Given the description of an element on the screen output the (x, y) to click on. 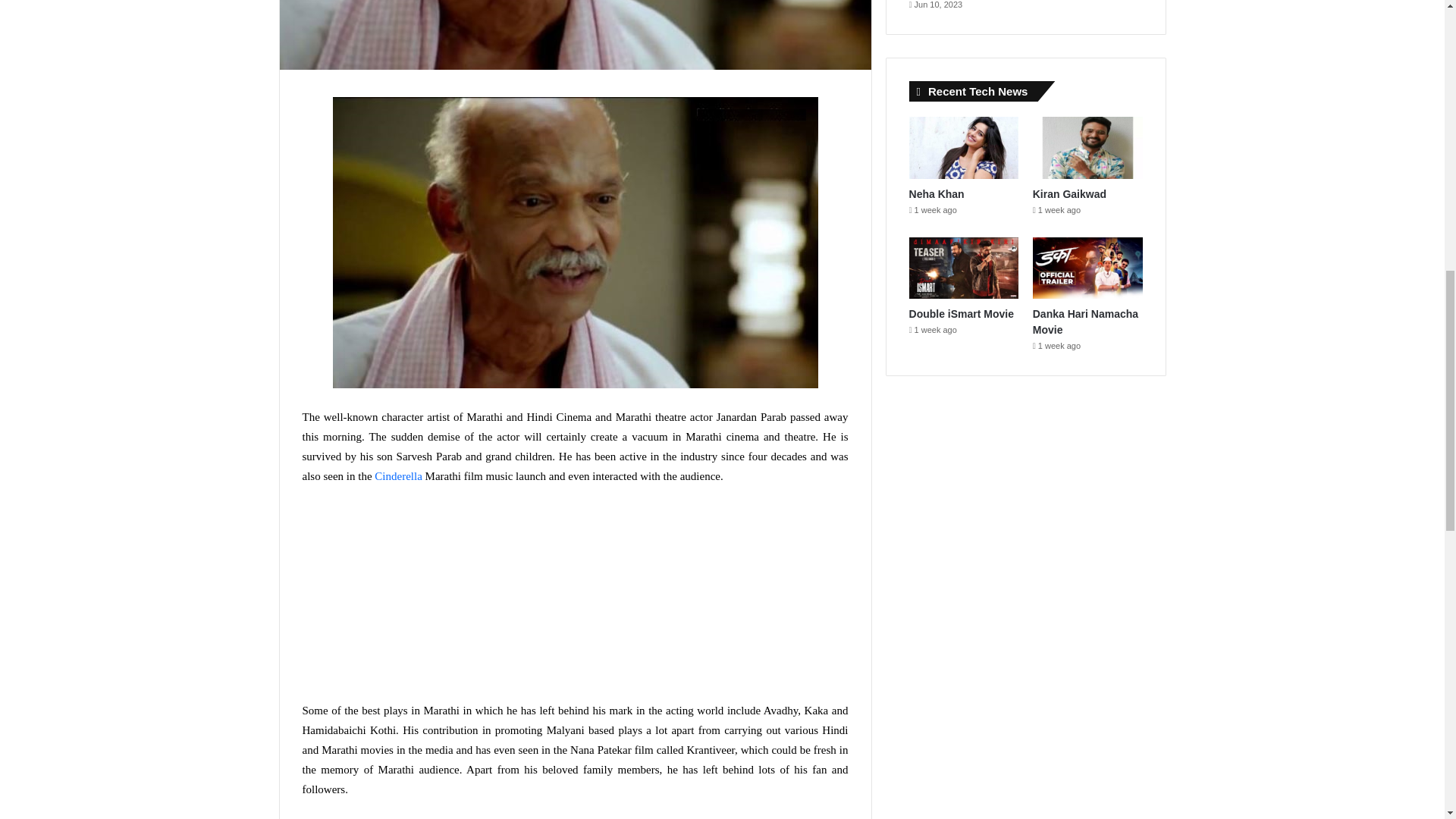
Cinderella (398, 476)
